Given the description of an element on the screen output the (x, y) to click on. 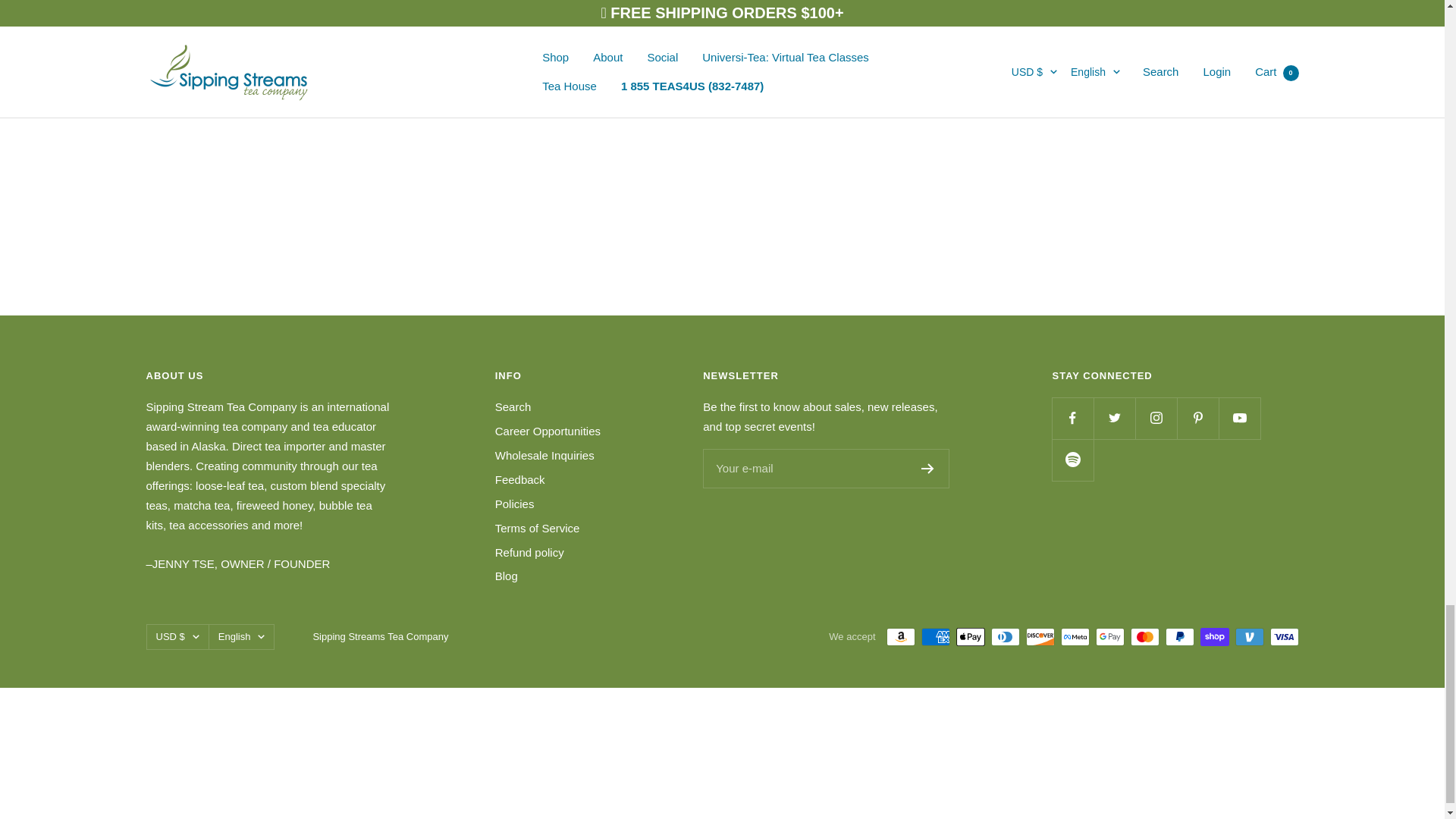
Register (927, 468)
